Given the description of an element on the screen output the (x, y) to click on. 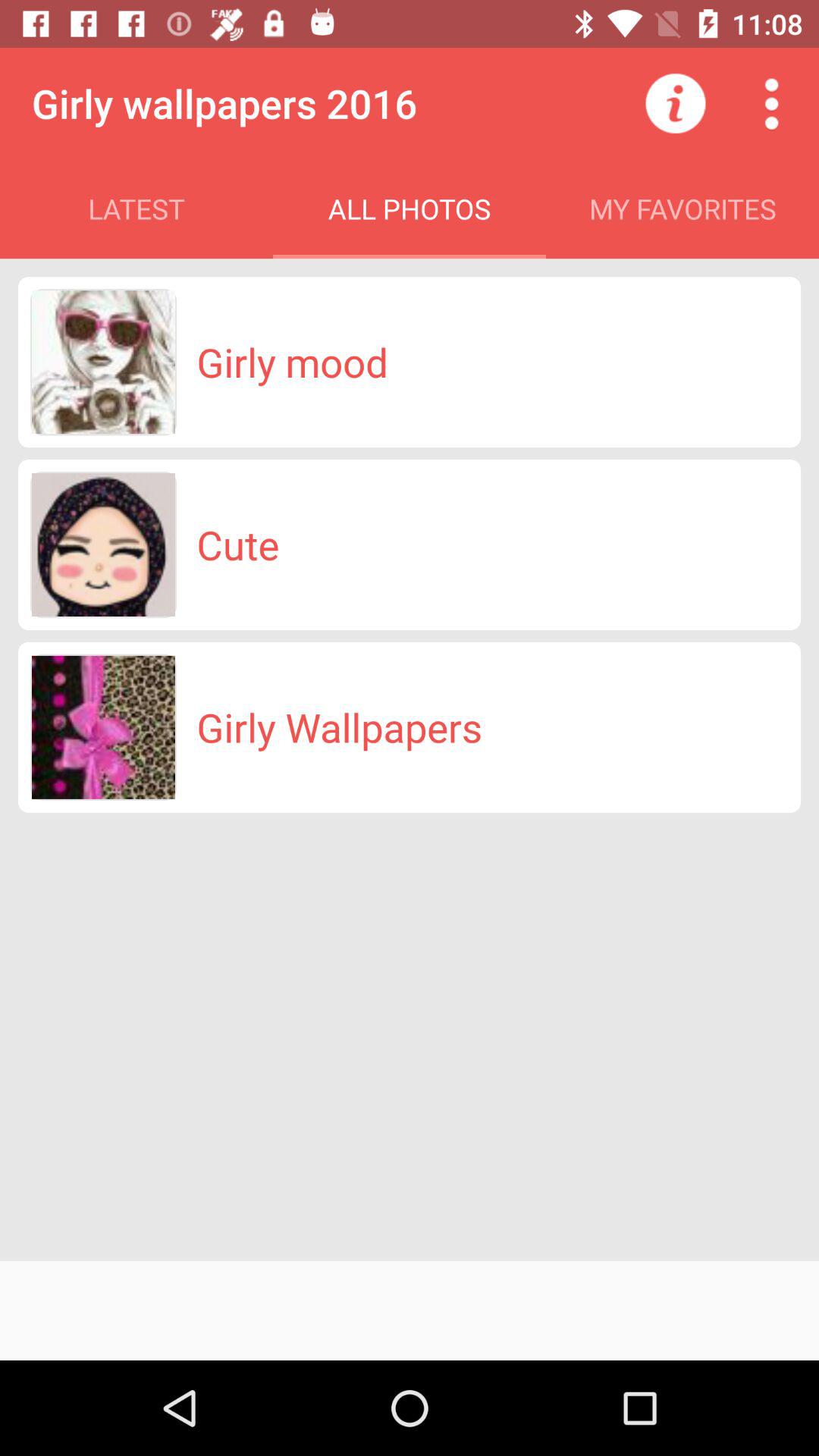
menu option (771, 103)
